Given the description of an element on the screen output the (x, y) to click on. 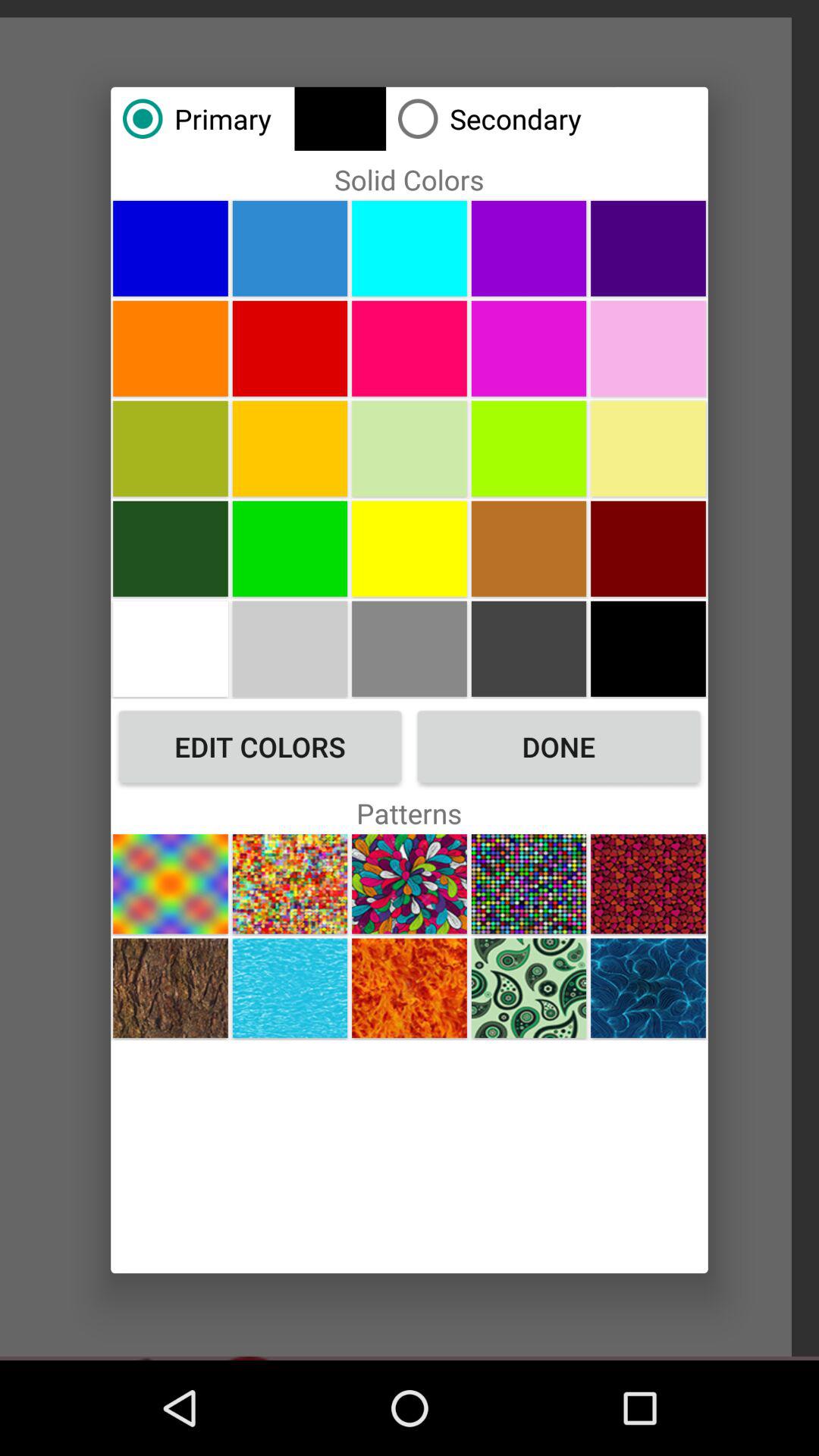
select pattern (170, 883)
